Given the description of an element on the screen output the (x, y) to click on. 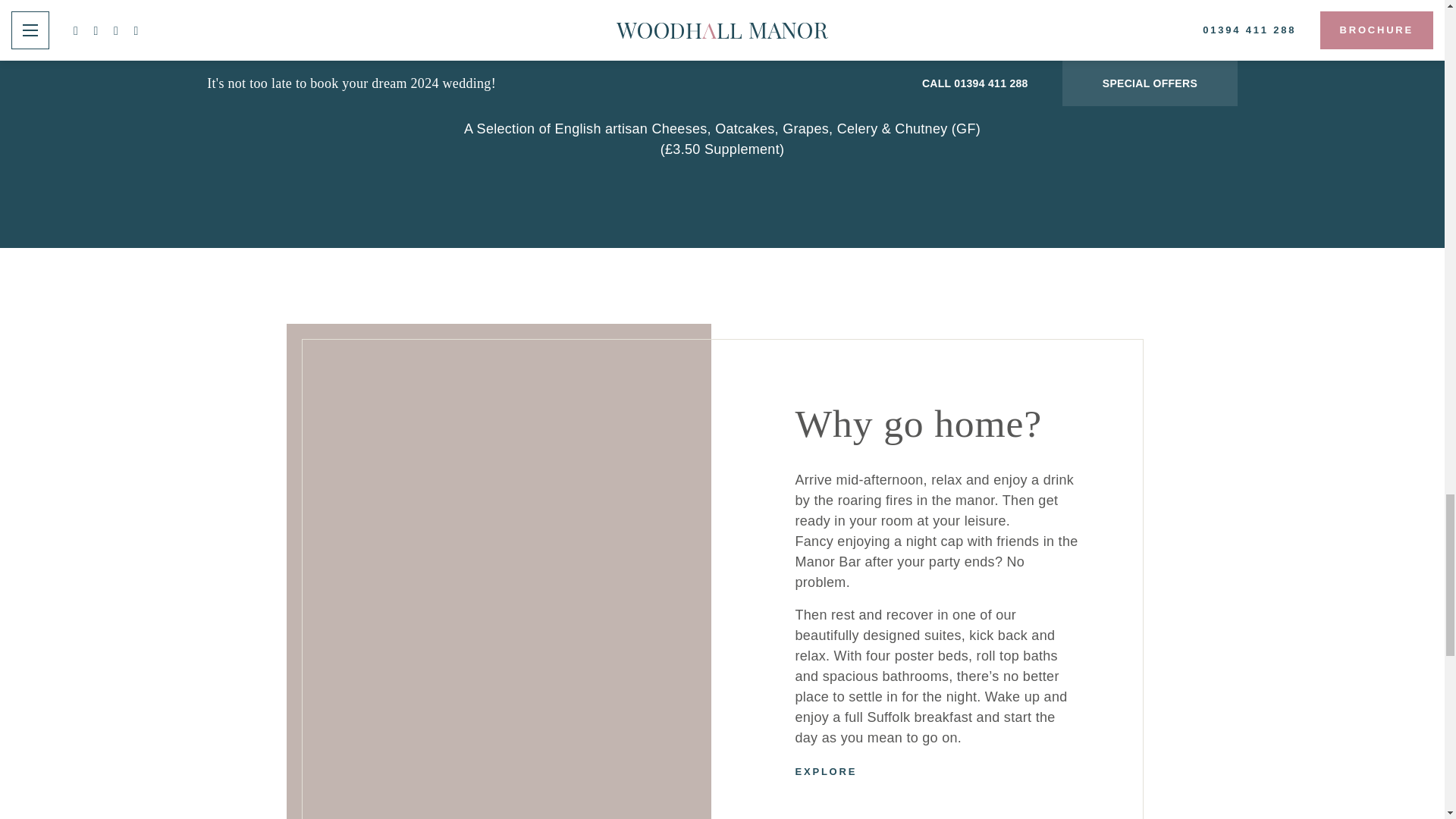
Page 2 (721, 79)
